Given the description of an element on the screen output the (x, y) to click on. 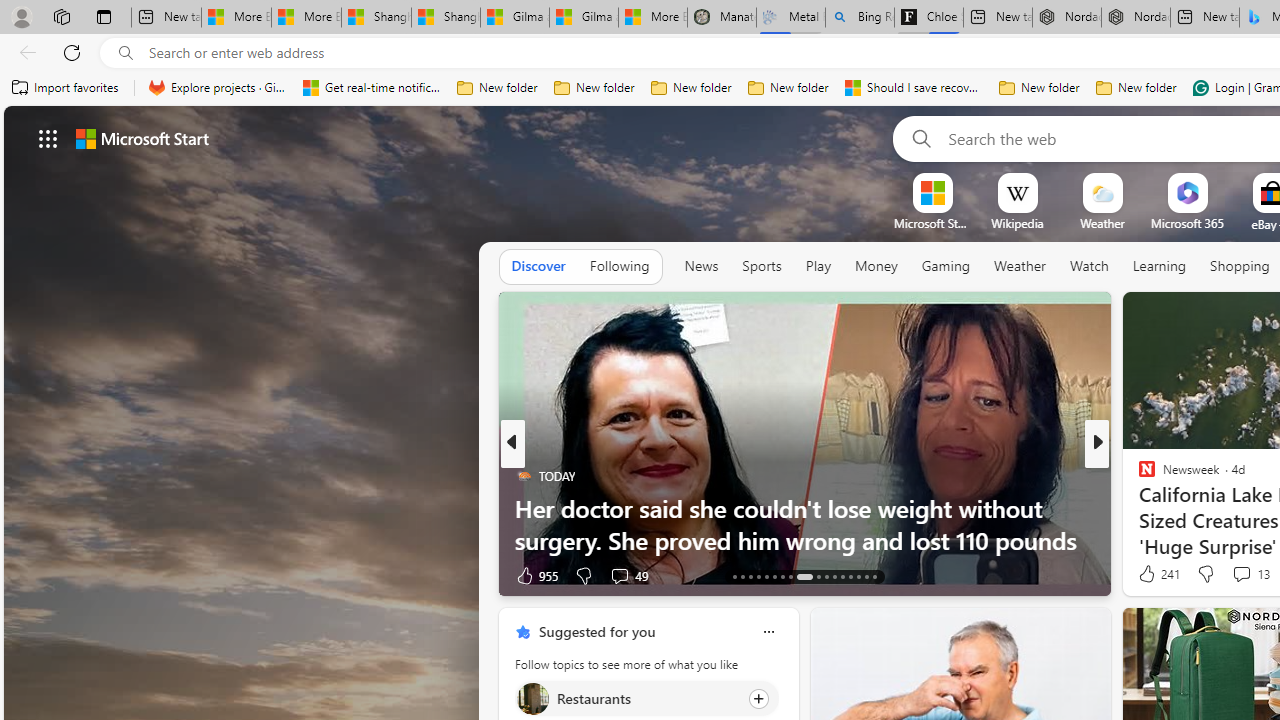
Microsoft 365 (1186, 223)
Dislike (1204, 574)
Money (875, 265)
News (701, 267)
Restaurants (532, 697)
Import favorites (65, 88)
AutomationID: tab-16 (757, 576)
Suggested for you (596, 631)
News (701, 265)
USA TODAY College Sports Wire (1138, 475)
Gaming (945, 267)
